Given the description of an element on the screen output the (x, y) to click on. 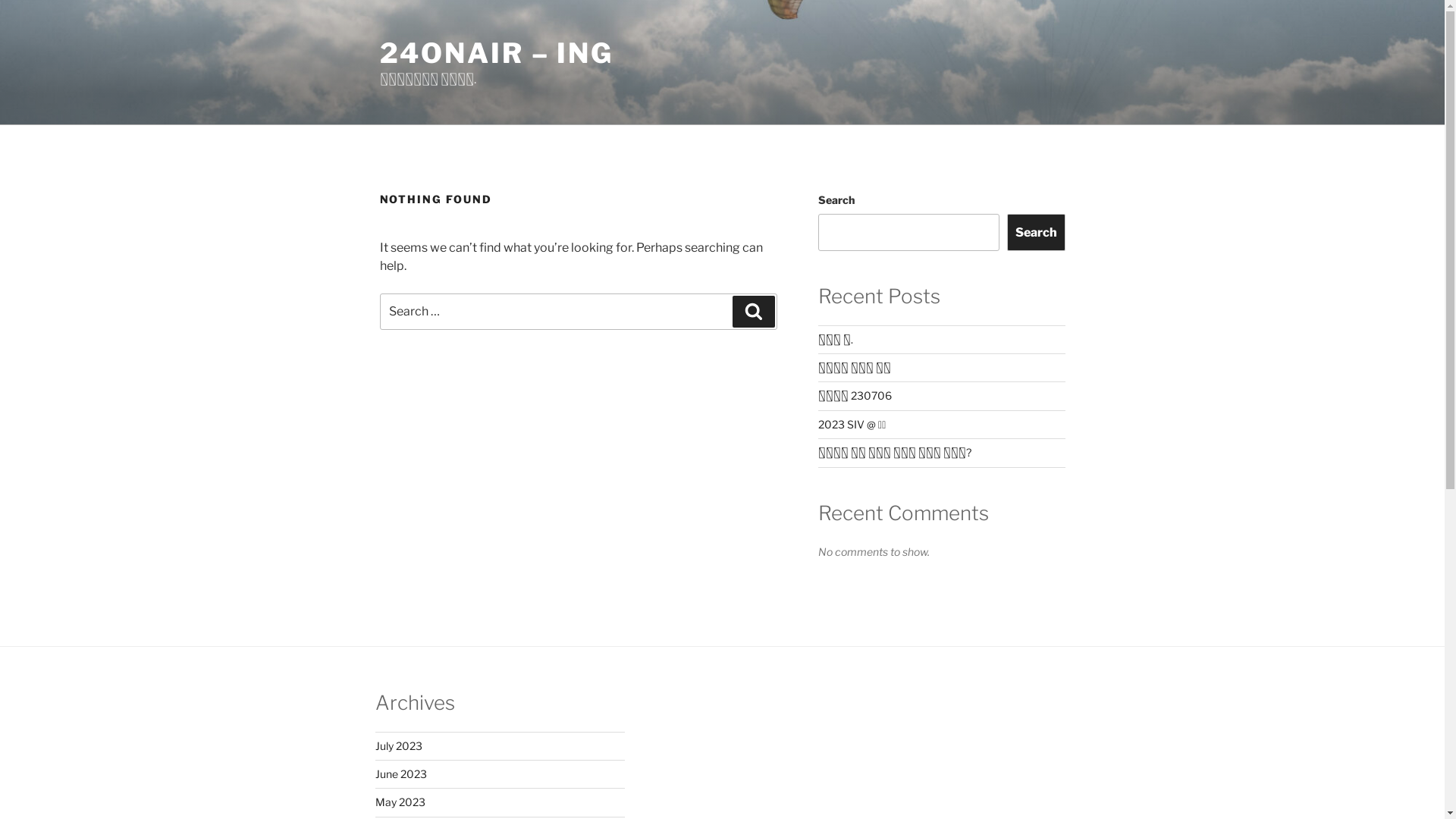
Search Element type: text (753, 311)
July 2023 Element type: text (397, 745)
May 2023 Element type: text (399, 801)
June 2023 Element type: text (400, 773)
Search Element type: text (1036, 231)
